Given the description of an element on the screen output the (x, y) to click on. 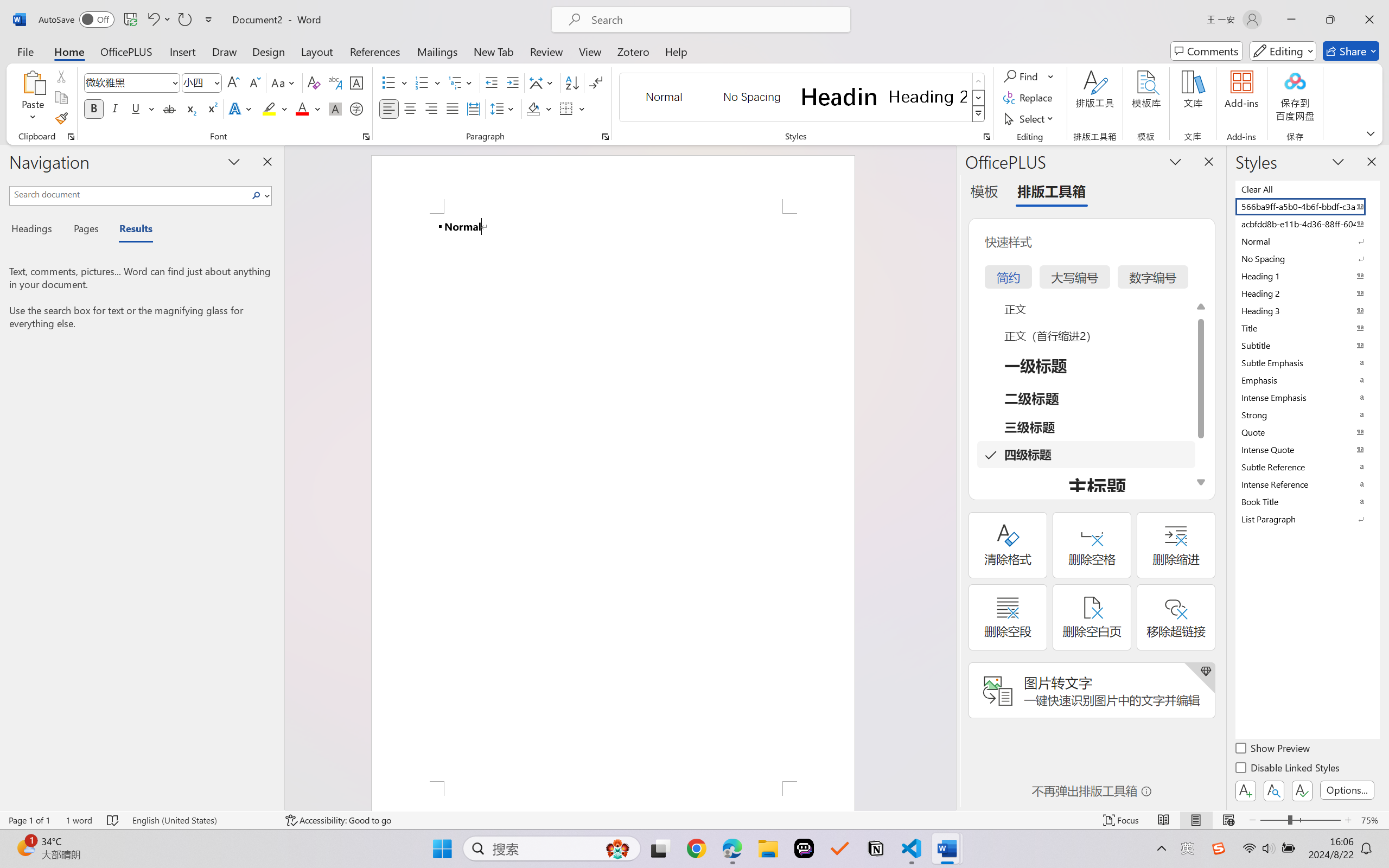
Share (1350, 51)
Find (1029, 75)
Home (69, 51)
More Options (1051, 75)
Show Preview (1273, 749)
Language English (United States) (201, 819)
Font (132, 82)
Office Clipboard... (70, 136)
Ribbon Display Options (1370, 132)
Text Highlight Color (274, 108)
Web Layout (1228, 819)
AutomationID: DynamicSearchBoxGleamImage (617, 848)
Line and Paragraph Spacing (503, 108)
